Given the description of an element on the screen output the (x, y) to click on. 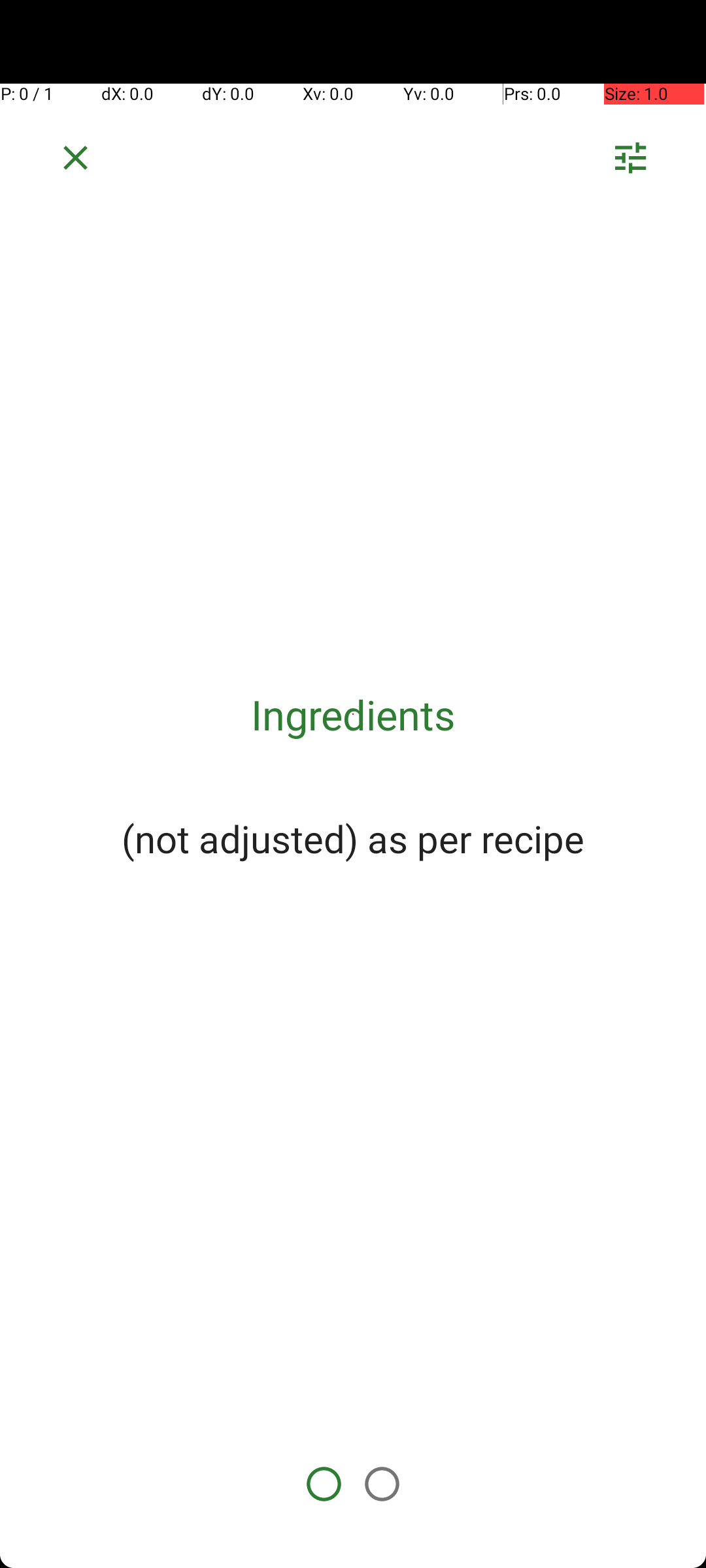
(not adjusted) as per recipe Element type: android.widget.TextView (353, 838)
